Given the description of an element on the screen output the (x, y) to click on. 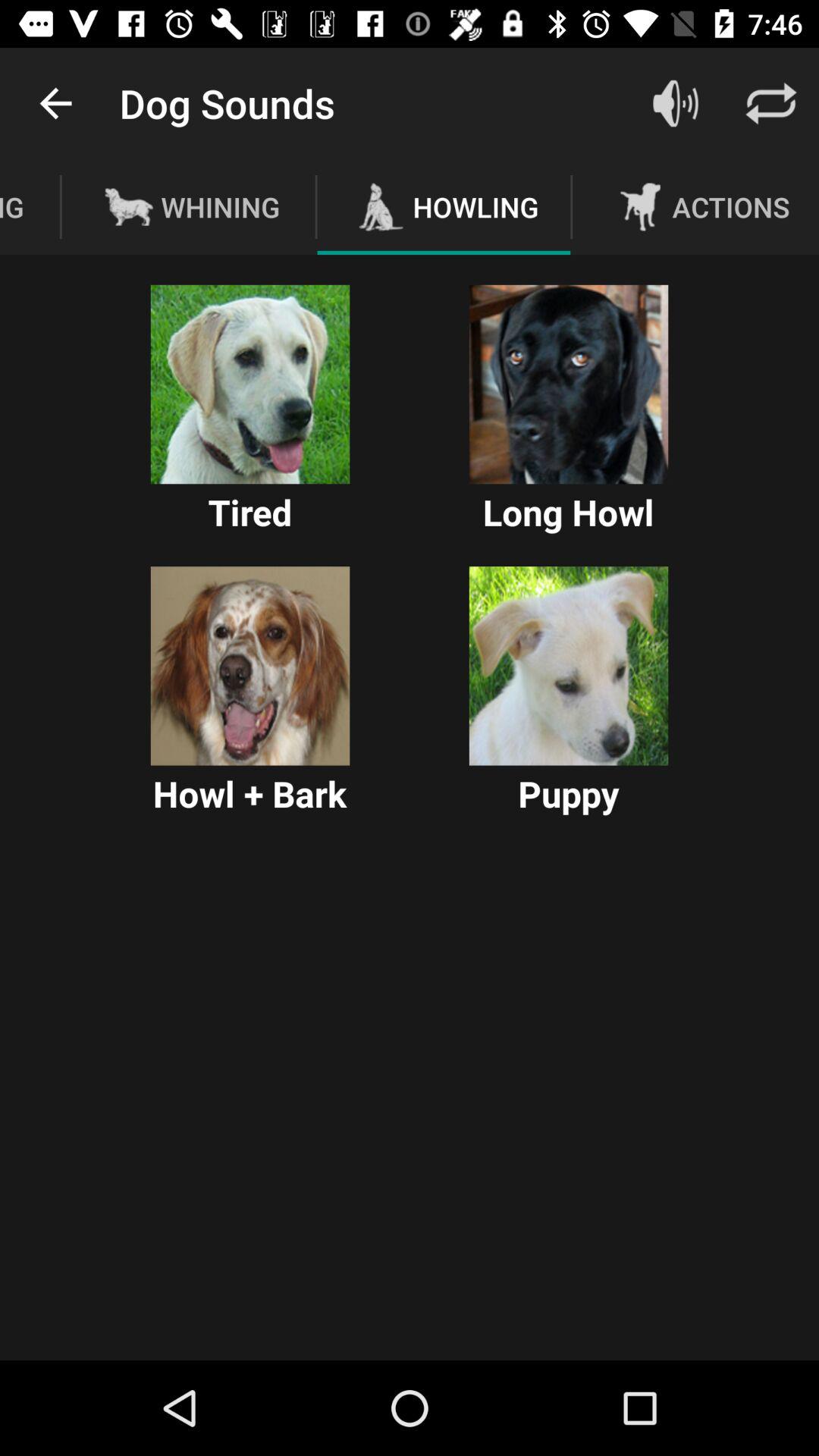
open sound settings (675, 103)
